Given the description of an element on the screen output the (x, y) to click on. 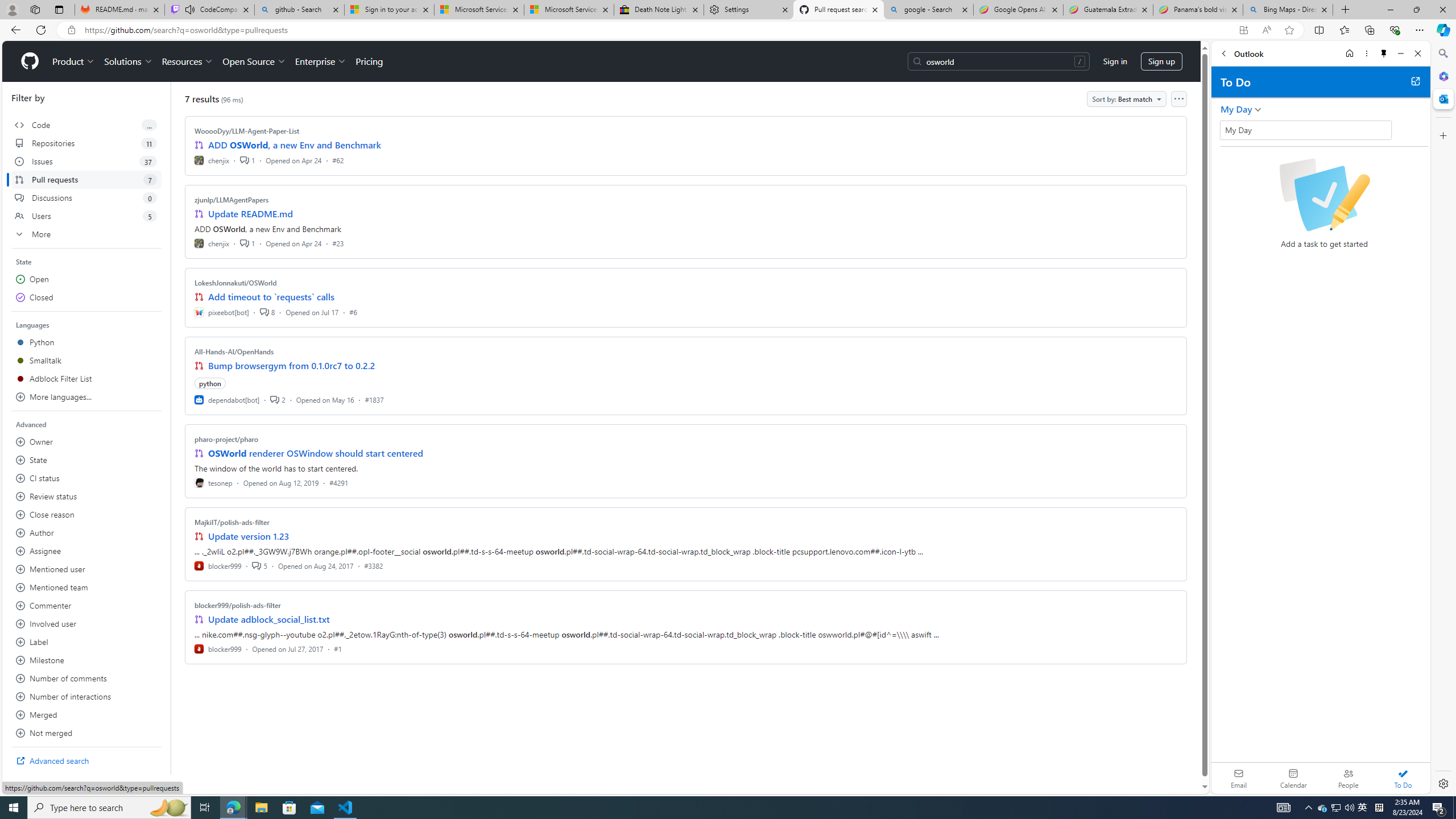
WooooDyy/LLM-Agent-Paper-List (247, 130)
App bar (728, 29)
#3382 (373, 565)
Open column options (1178, 98)
2 (277, 398)
App available. Install GitHub (1243, 29)
Resources (187, 60)
